Given the description of an element on the screen output the (x, y) to click on. 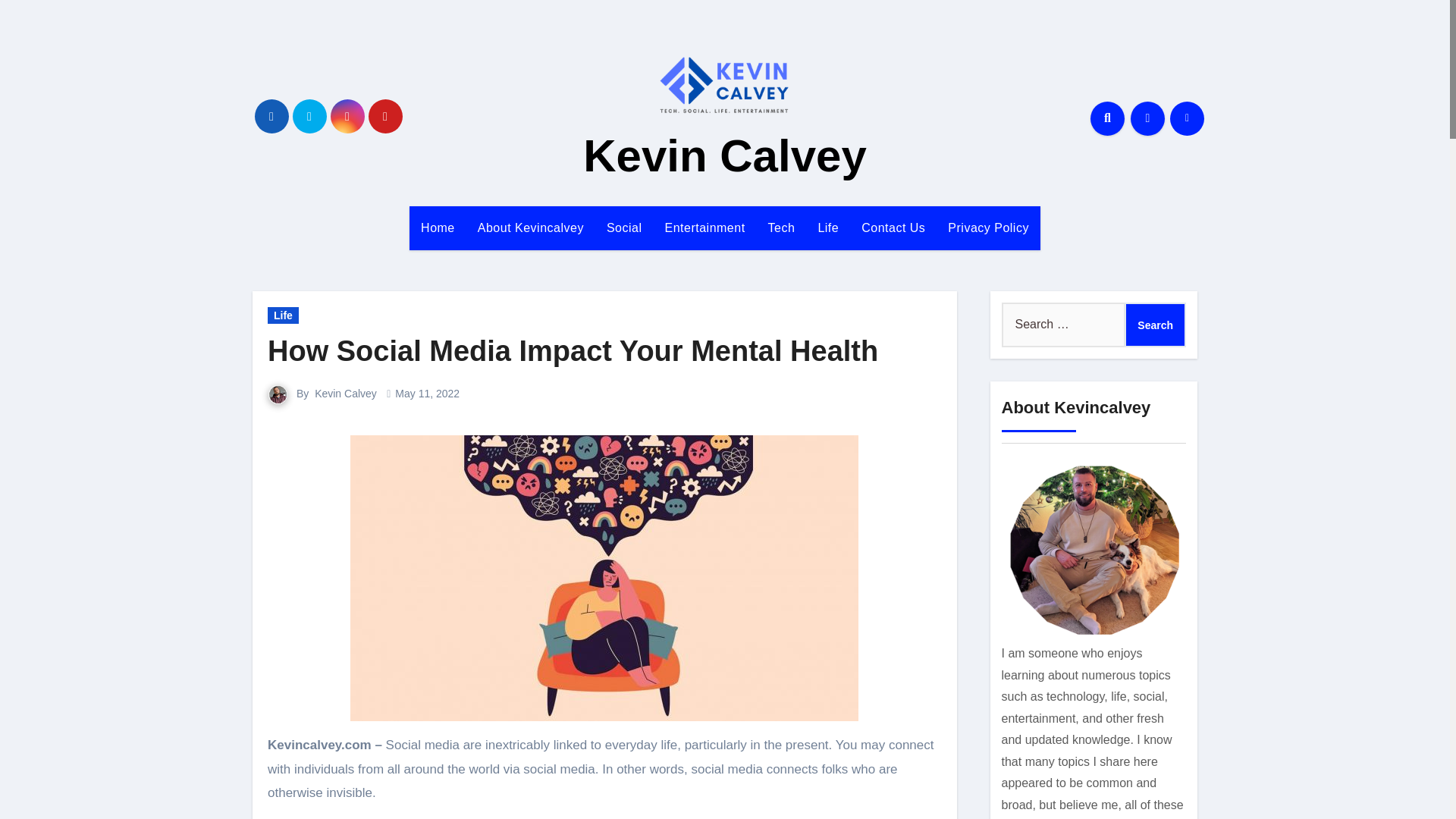
Home (437, 228)
Social (624, 228)
Entertainment (703, 228)
About Kevincalvey (530, 228)
Social (624, 228)
Search (1155, 324)
Home (437, 228)
Privacy Policy (988, 228)
Life (828, 228)
Contact Us (893, 228)
Life (282, 315)
Permalink to: How Social Media Impact Your Mental Health (572, 350)
Life (828, 228)
About Kevincalvey (530, 228)
Kevin Calvey (345, 393)
